Given the description of an element on the screen output the (x, y) to click on. 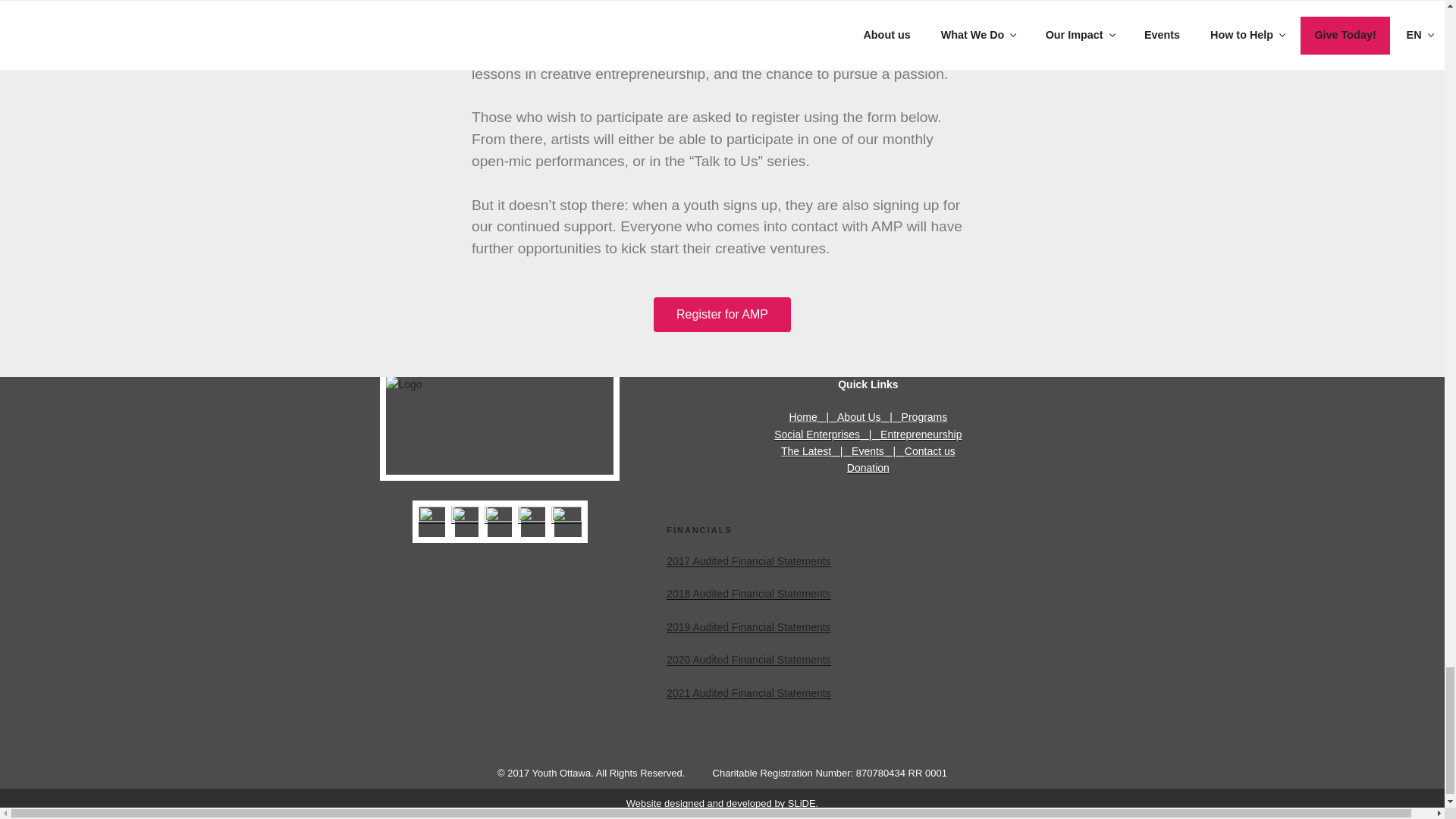
Register for AMP (721, 314)
About Us (858, 417)
Programs (924, 417)
SLiDE (801, 803)
Home (802, 417)
